Given the description of an element on the screen output the (x, y) to click on. 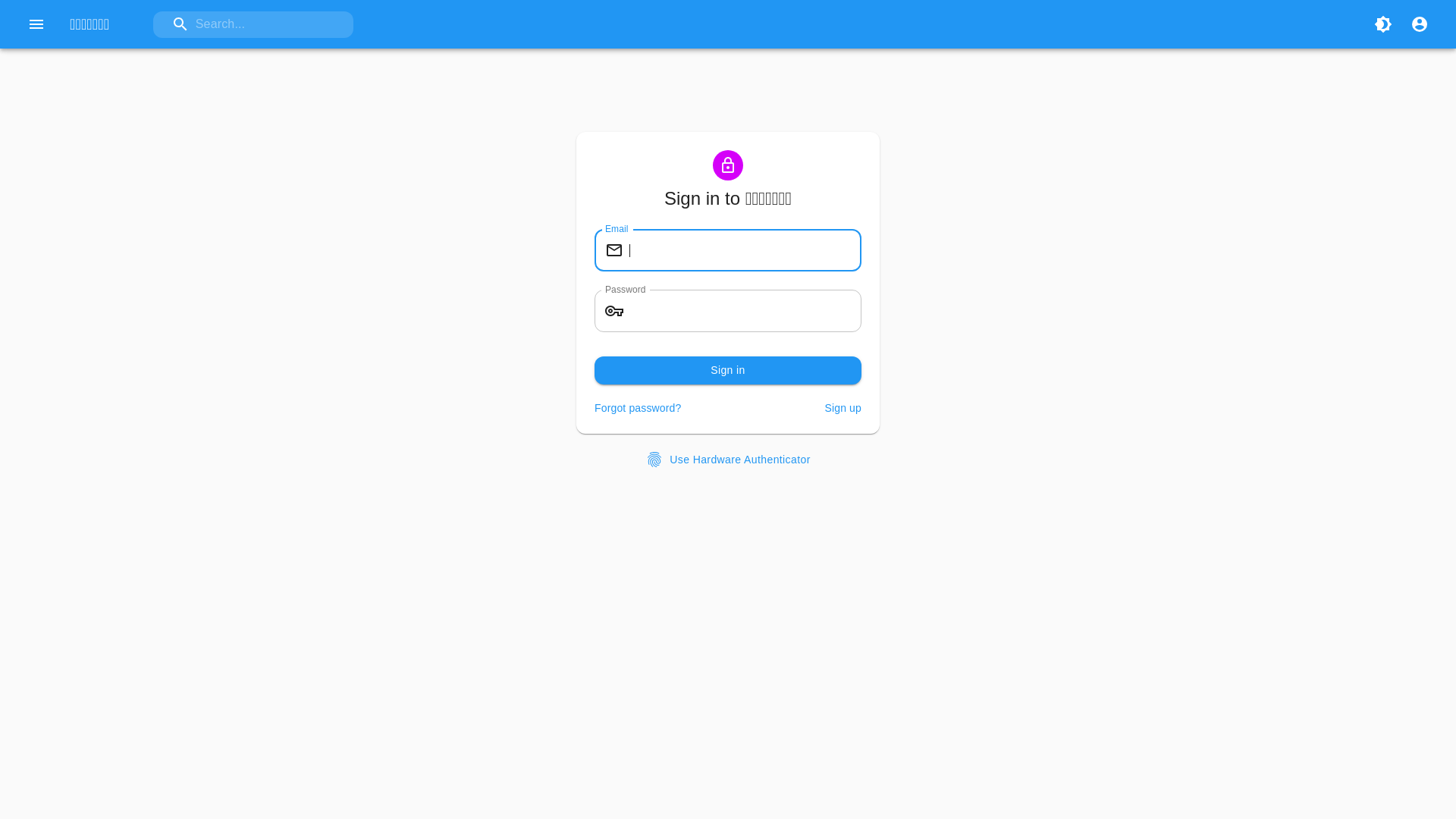
Use Hardware Authenticator Element type: text (727, 459)
Sign up Element type: text (842, 407)
Switch to dark theme Element type: hover (1383, 24)
Forgot password? Element type: text (637, 407)
Sign in Element type: text (727, 370)
